Given the description of an element on the screen output the (x, y) to click on. 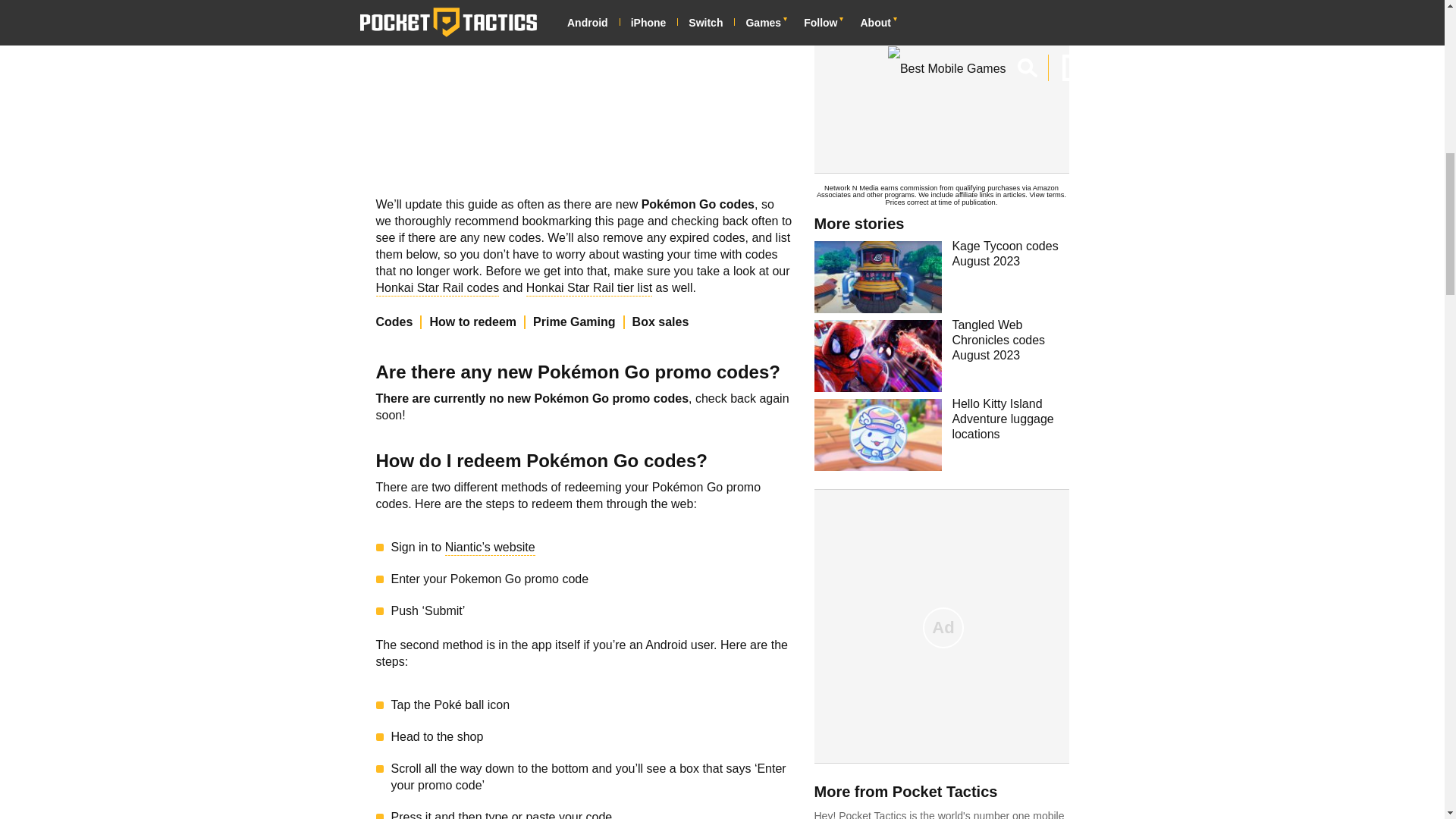
Prime Gaming (578, 322)
Honkai Star Rail codes (437, 289)
Honkai Star Rail tier list (588, 289)
Codes (398, 322)
Kage Tycoon codes August 2023 (940, 275)
Box sales (664, 322)
How to redeem (477, 322)
